Given the description of an element on the screen output the (x, y) to click on. 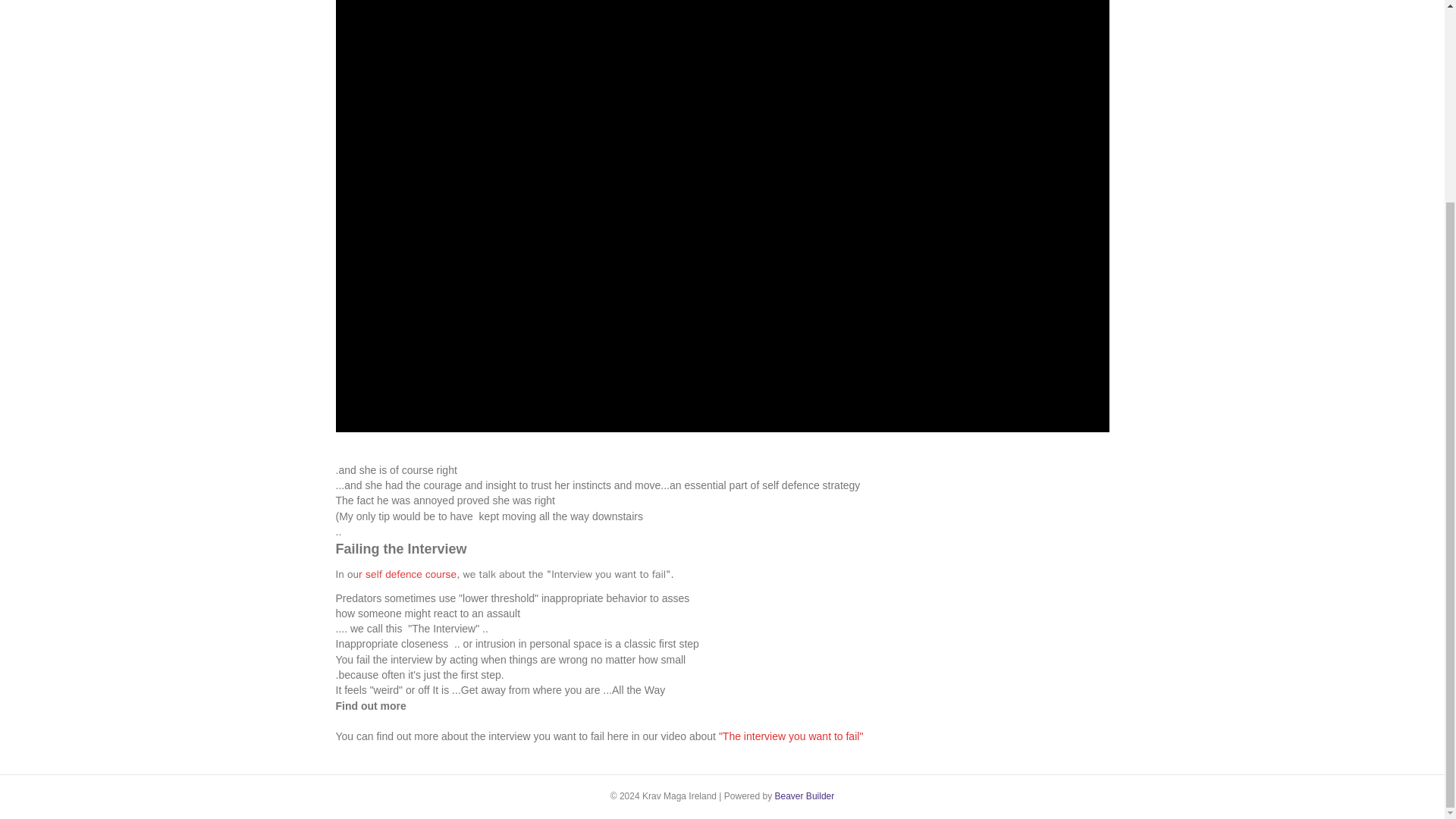
r self defence course (407, 574)
"The interview you want to fail" (791, 736)
WordPress Page Builder Plugin (804, 796)
Beaver Builder (804, 796)
